Given the description of an element on the screen output the (x, y) to click on. 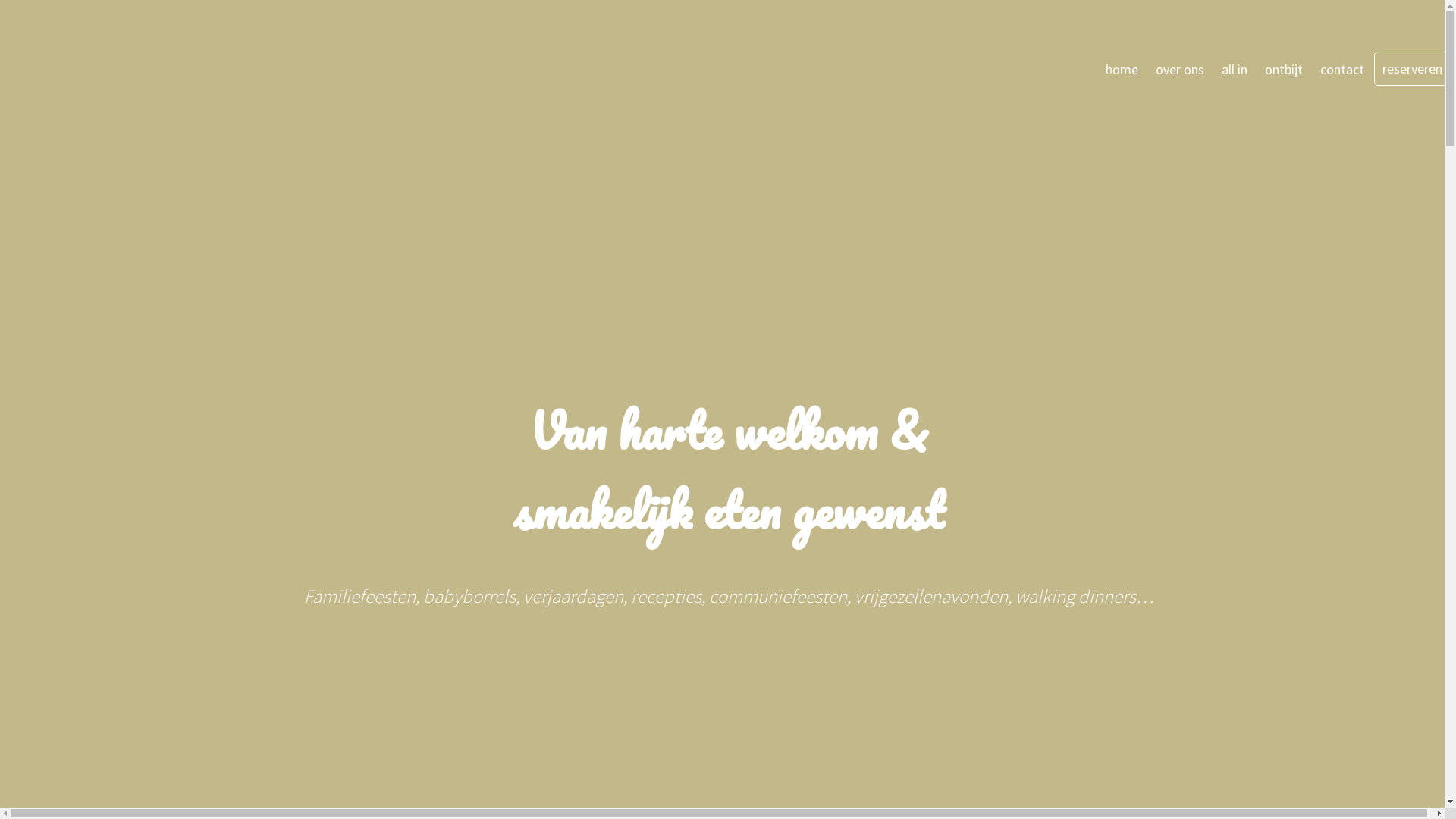
contact Element type: text (1341, 69)
home Element type: text (1121, 69)
reserveren Element type: text (1412, 68)
Den Bruul Element type: text (119, 73)
over ons Element type: text (1179, 69)
ontbijt Element type: text (1283, 69)
all in Element type: text (1234, 69)
